Given the description of an element on the screen output the (x, y) to click on. 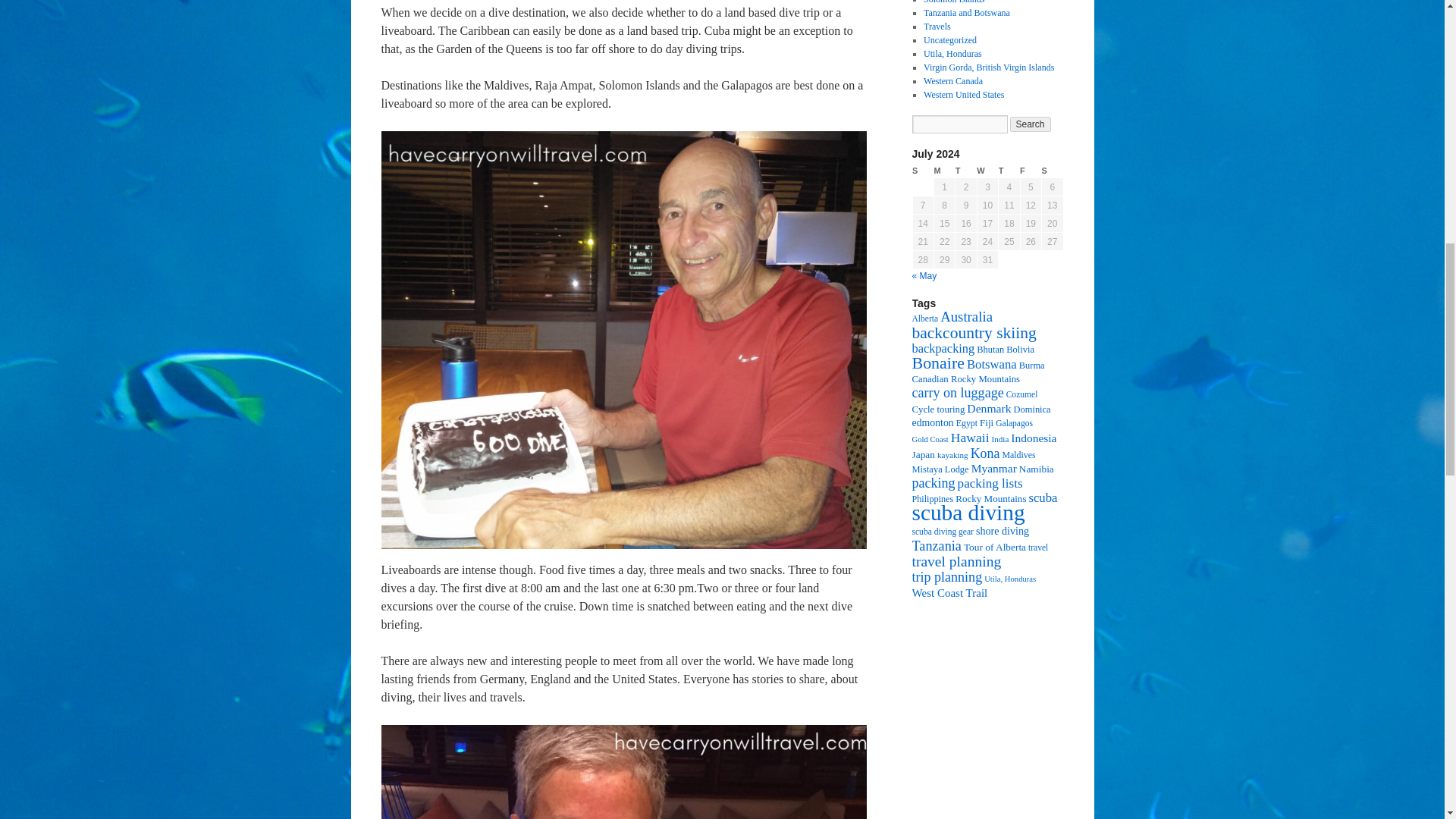
Saturday (1052, 170)
Friday (1030, 170)
Wednesday (986, 170)
Sunday (922, 170)
Search (1030, 124)
Monday (944, 170)
Tuesday (965, 170)
Thursday (1009, 170)
